Given the description of an element on the screen output the (x, y) to click on. 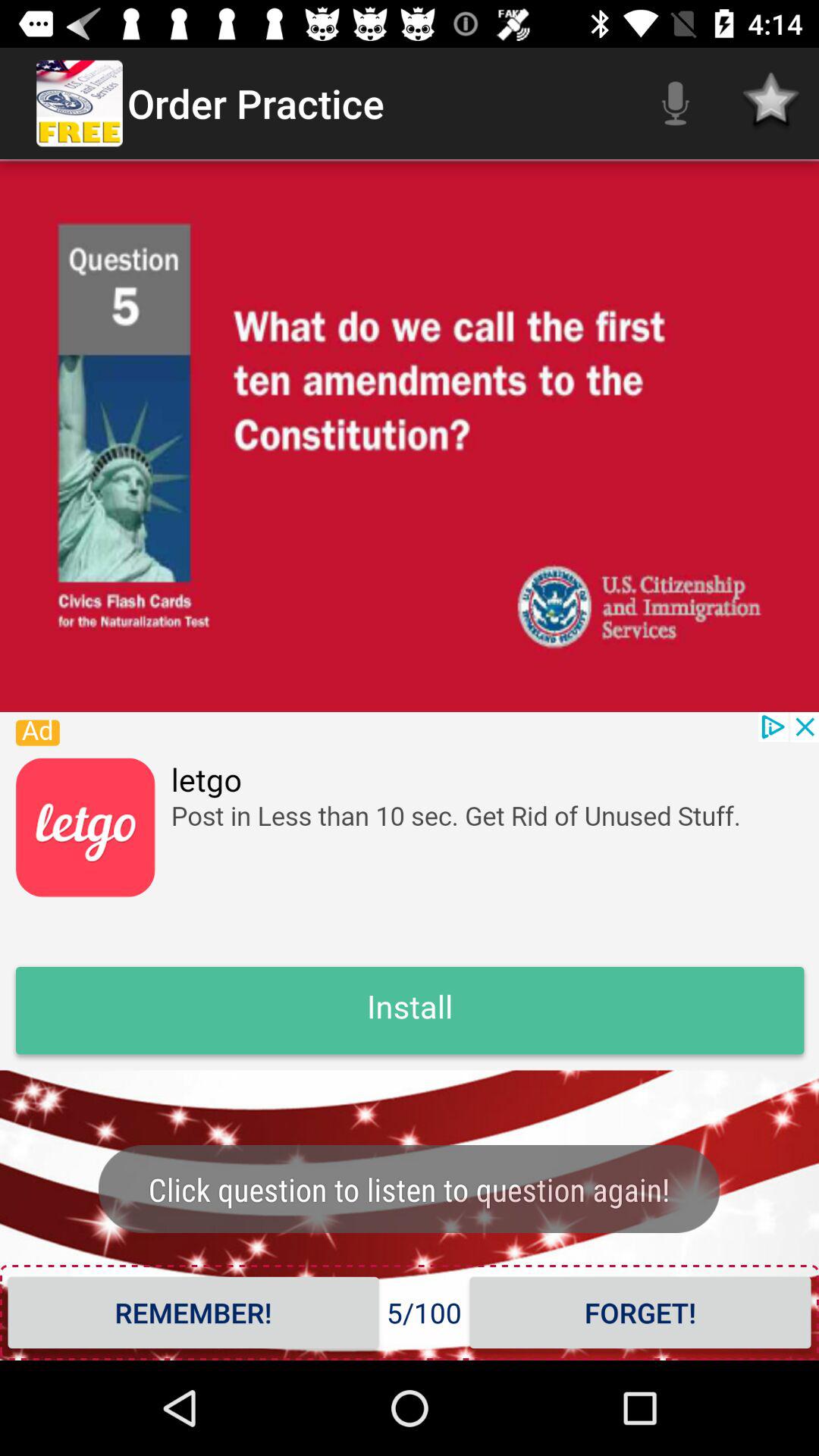
open advertisement (409, 891)
